Given the description of an element on the screen output the (x, y) to click on. 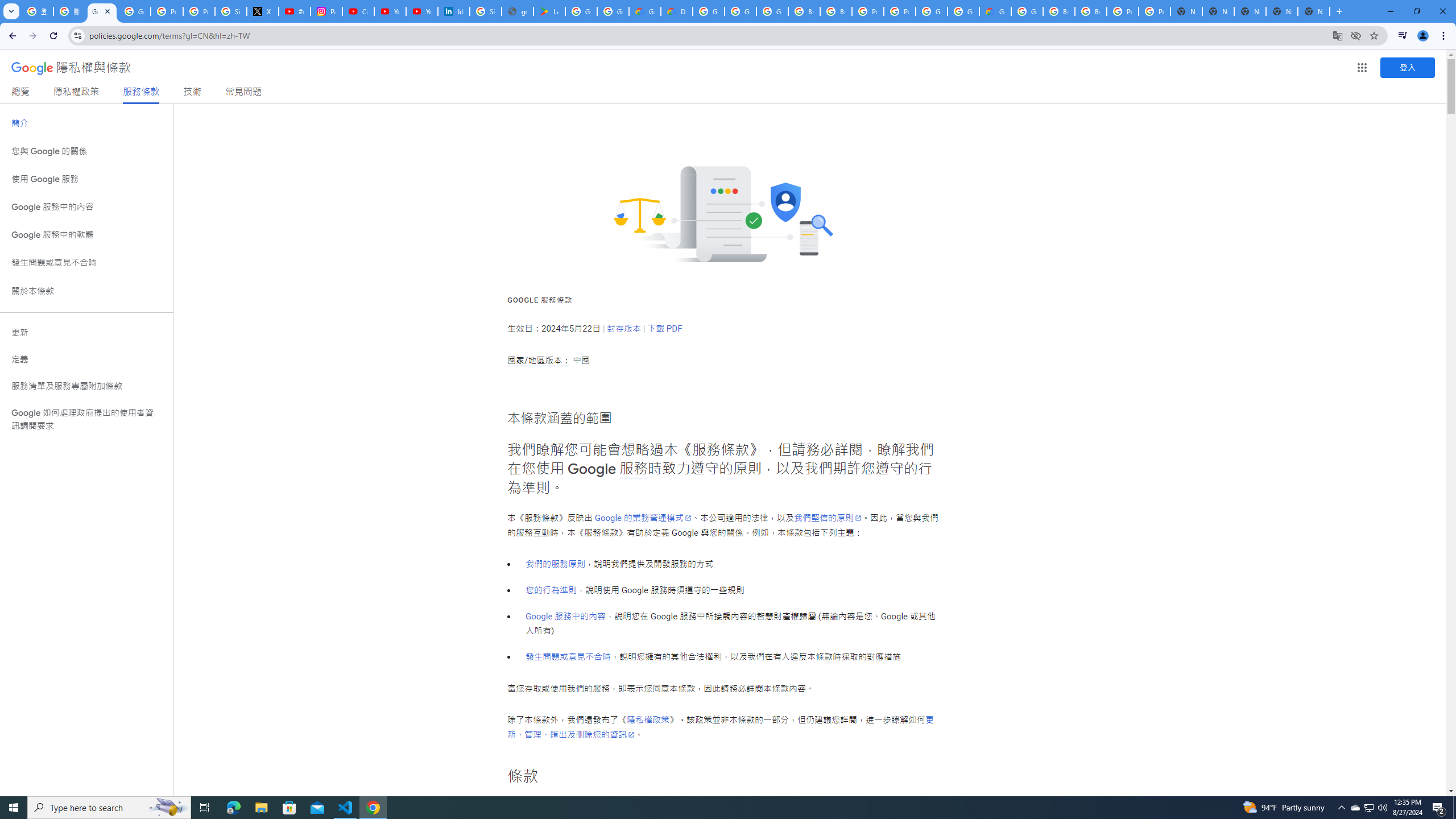
Sign in - Google Accounts (485, 11)
Google Cloud Platform (1027, 11)
Google Cloud Platform (931, 11)
Sign in - Google Accounts (230, 11)
google_privacy_policy_en.pdf (517, 11)
